Given the description of an element on the screen output the (x, y) to click on. 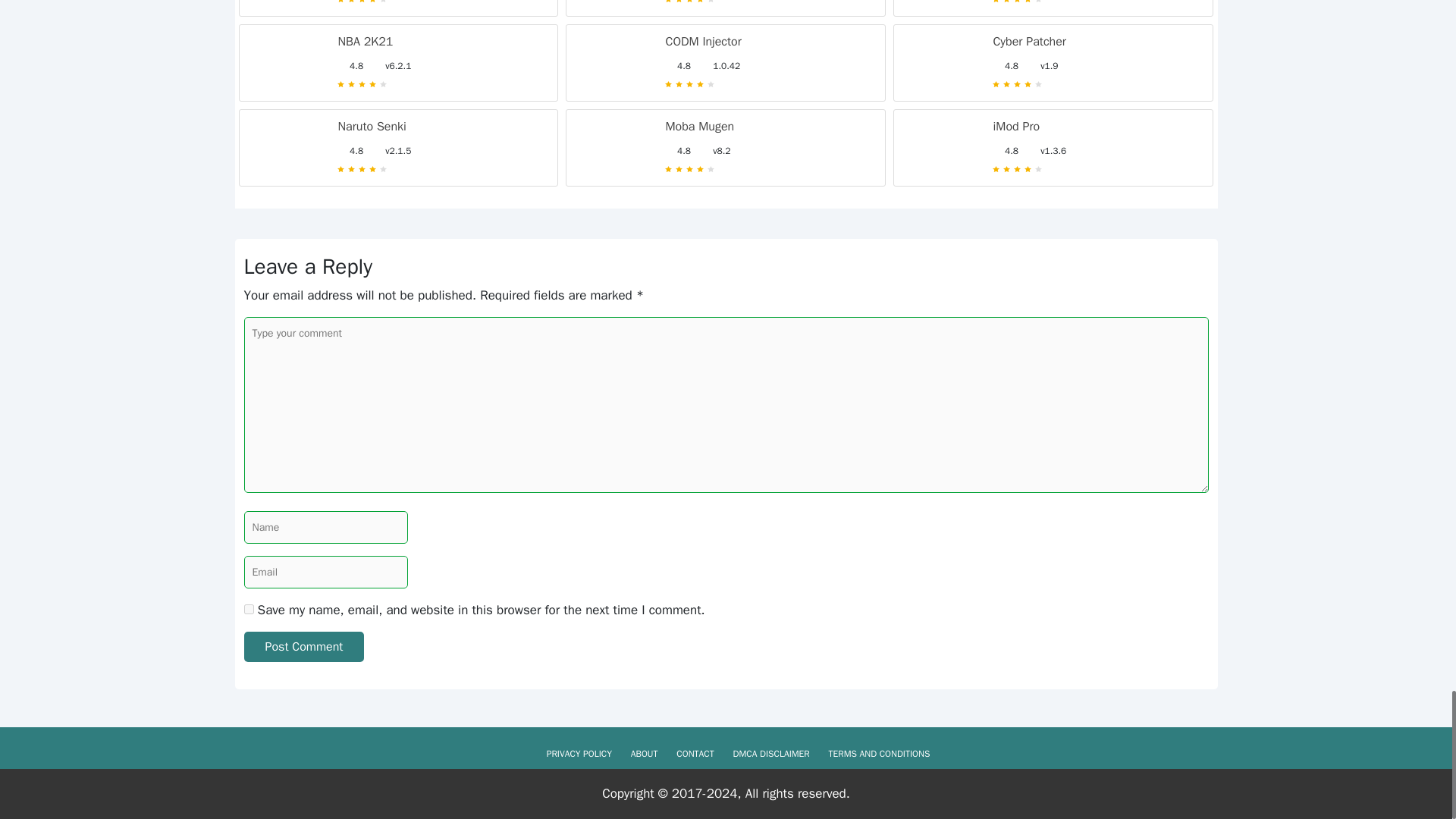
Post Comment (304, 646)
CODM Injector (703, 41)
NBA 2K21 (365, 41)
yes (248, 609)
